Given the description of an element on the screen output the (x, y) to click on. 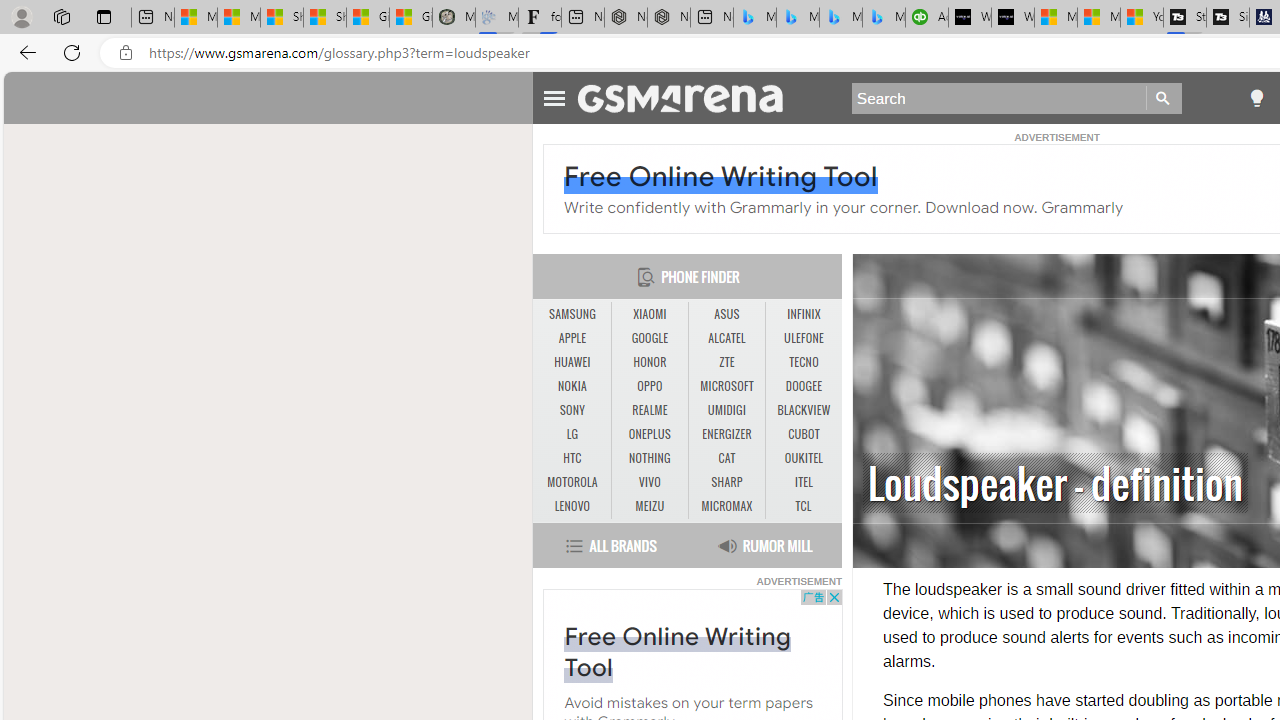
LG (571, 434)
ASUS (726, 314)
ENERGIZER (726, 434)
AutomationID: anchor (689, 97)
SONY (571, 411)
ONEPLUS (649, 434)
HTC (571, 457)
MEIZU (649, 506)
SHARP (726, 483)
OUKITEL (803, 457)
OPPO (649, 385)
MEIZU (649, 506)
ASUS (726, 313)
